Given the description of an element on the screen output the (x, y) to click on. 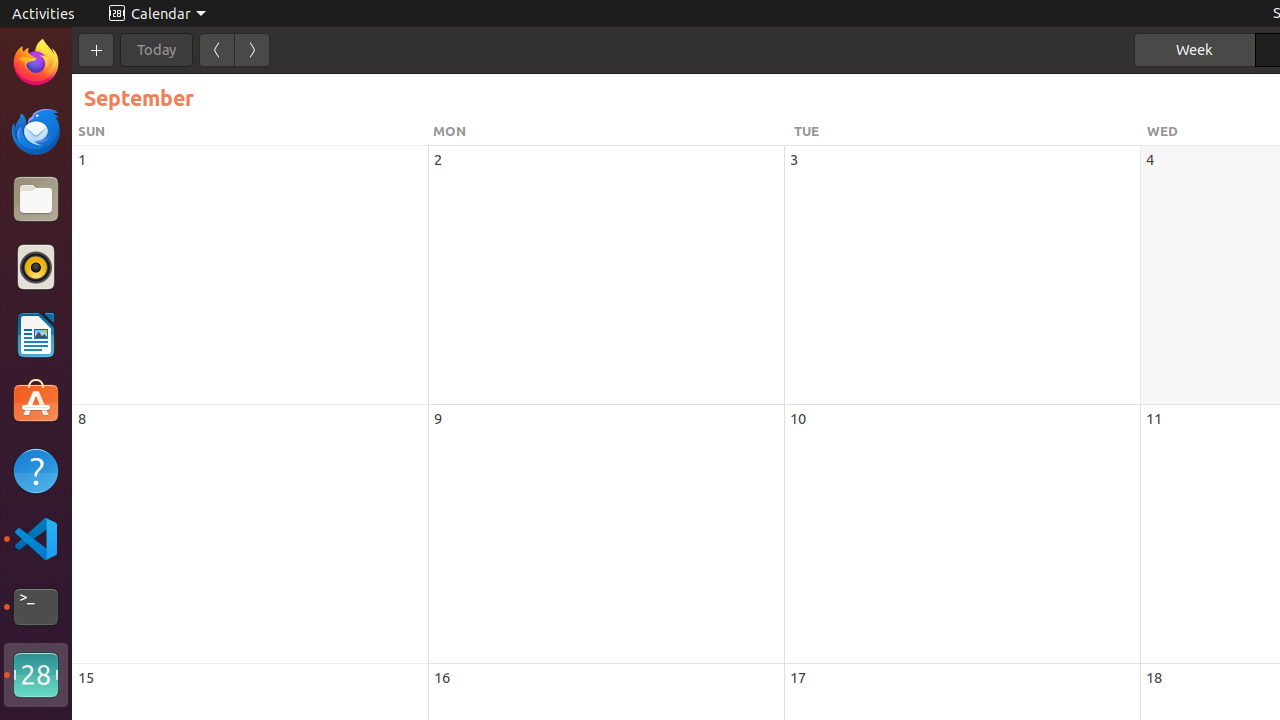
MON Element type: label (610, 131)
li.txt Element type: label (259, 89)
Terminal Element type: push-button (36, 607)
